Given the description of an element on the screen output the (x, y) to click on. 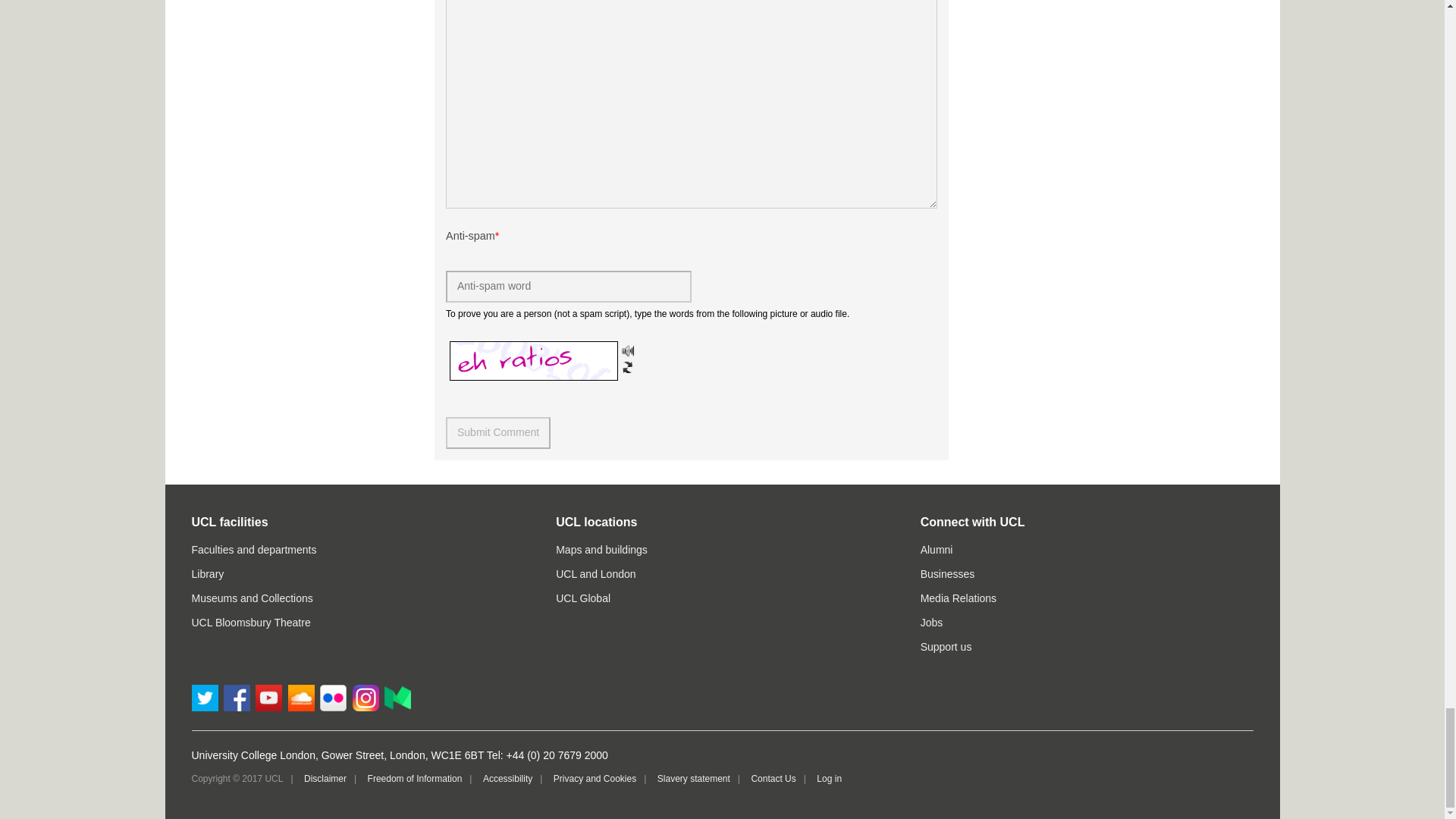
Submit Comment (497, 432)
